Given the description of an element on the screen output the (x, y) to click on. 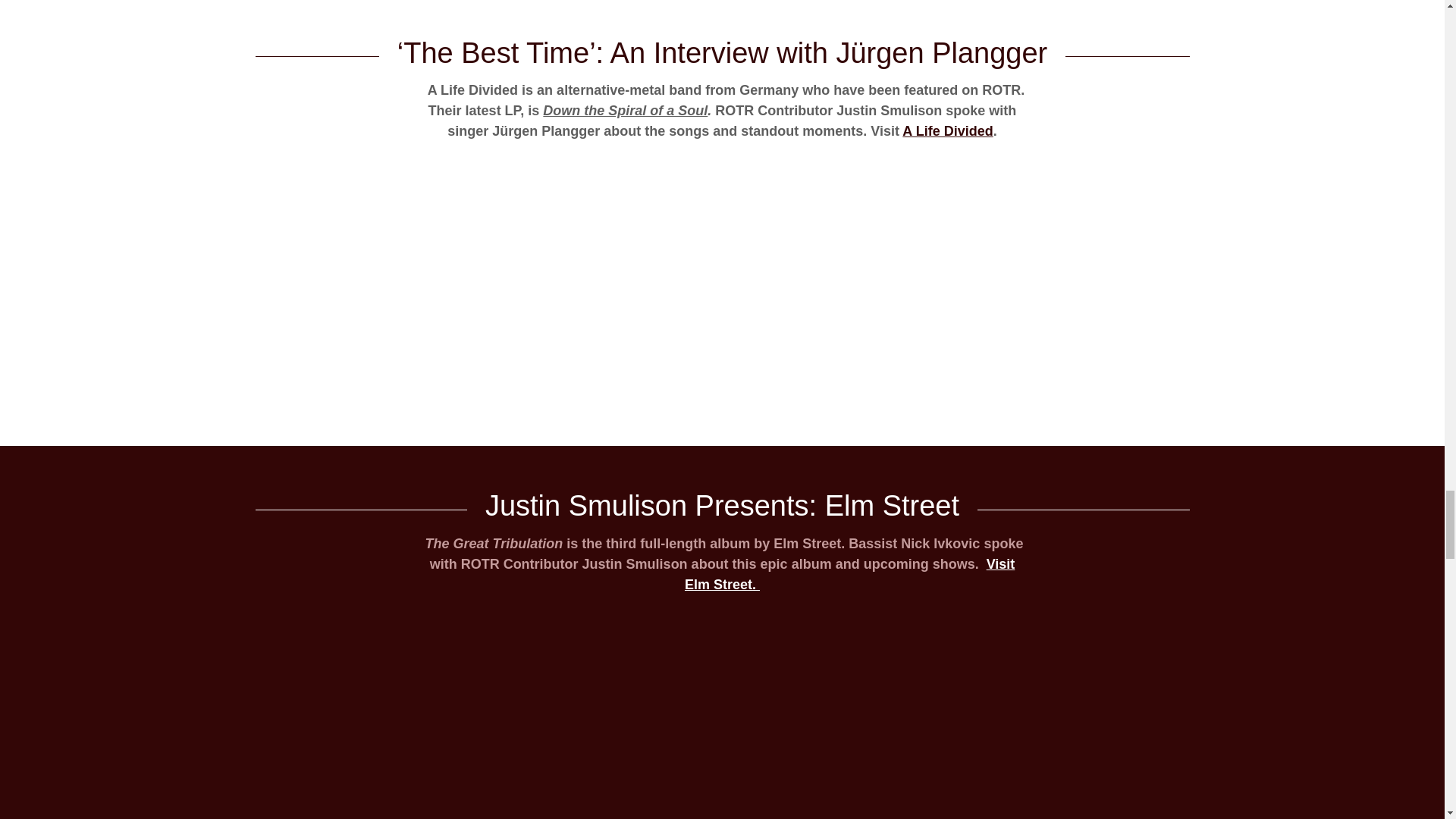
A Life Divided (947, 130)
Clickable audio widget (721, 721)
Clickable audio widget (721, 285)
Visit Elm Street.  (849, 574)
